Given the description of an element on the screen output the (x, y) to click on. 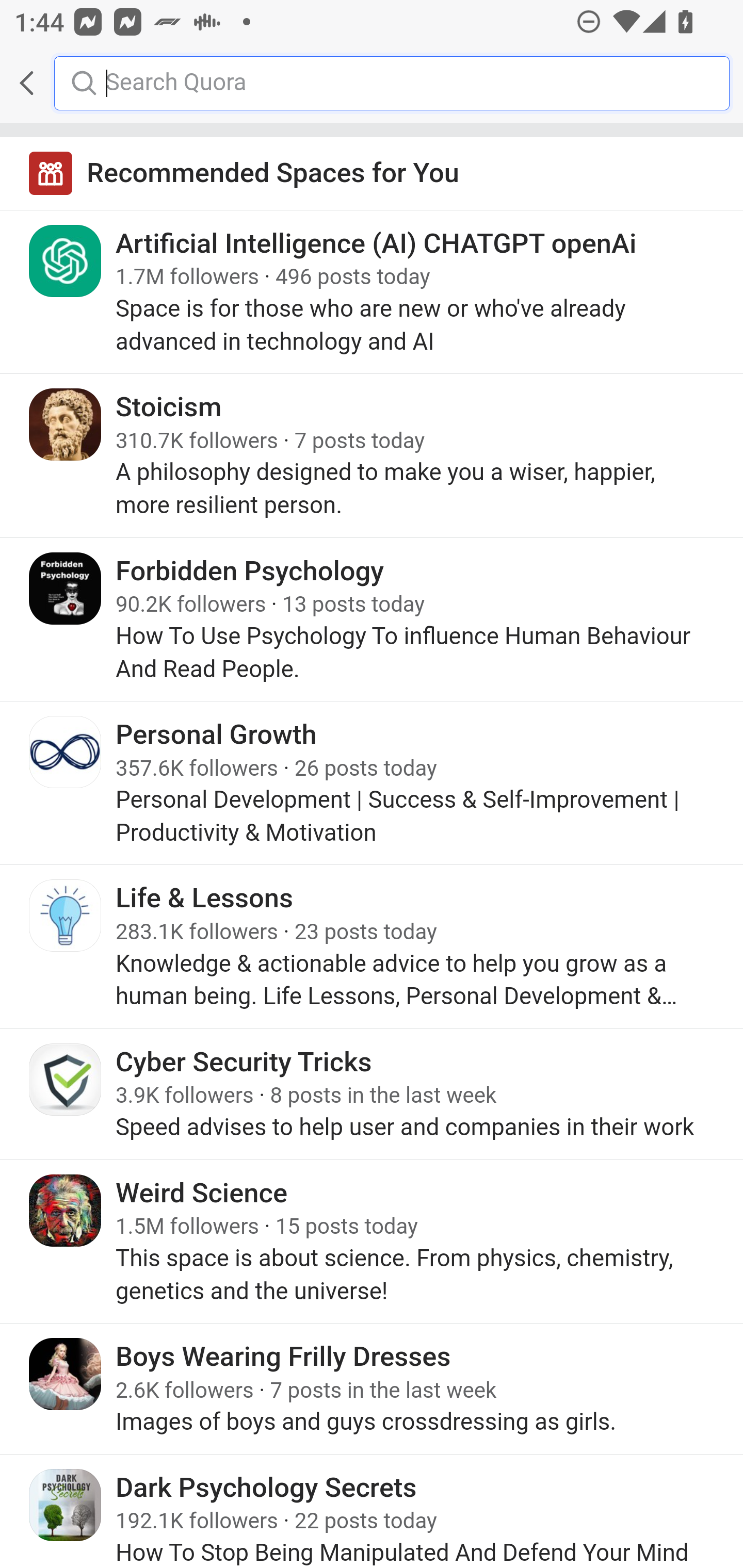
Me (64, 83)
Icon for Stoicism (65, 424)
Icon for Forbidden Psychology (65, 587)
Icon for Personal Growth (65, 751)
Icon for Life & Lessons (65, 916)
Icon for Cyber Security Tricks (65, 1078)
Icon for Weird Science (65, 1209)
Icon for Boys Wearing Frilly Dresses (65, 1374)
Icon for Dark Psychology Secrets (65, 1504)
